Given the description of an element on the screen output the (x, y) to click on. 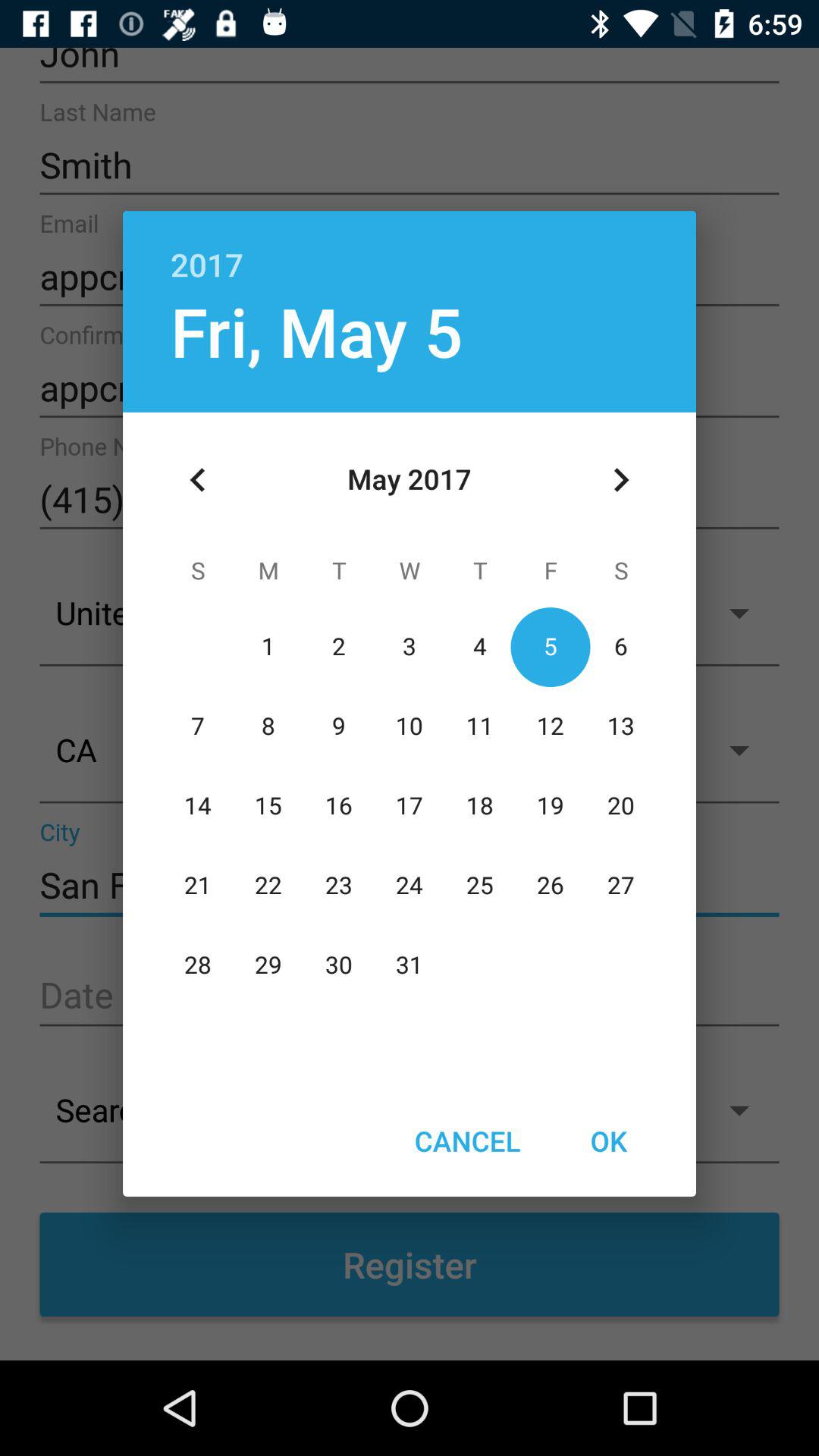
tap the item to the right of cancel (608, 1140)
